Given the description of an element on the screen output the (x, y) to click on. 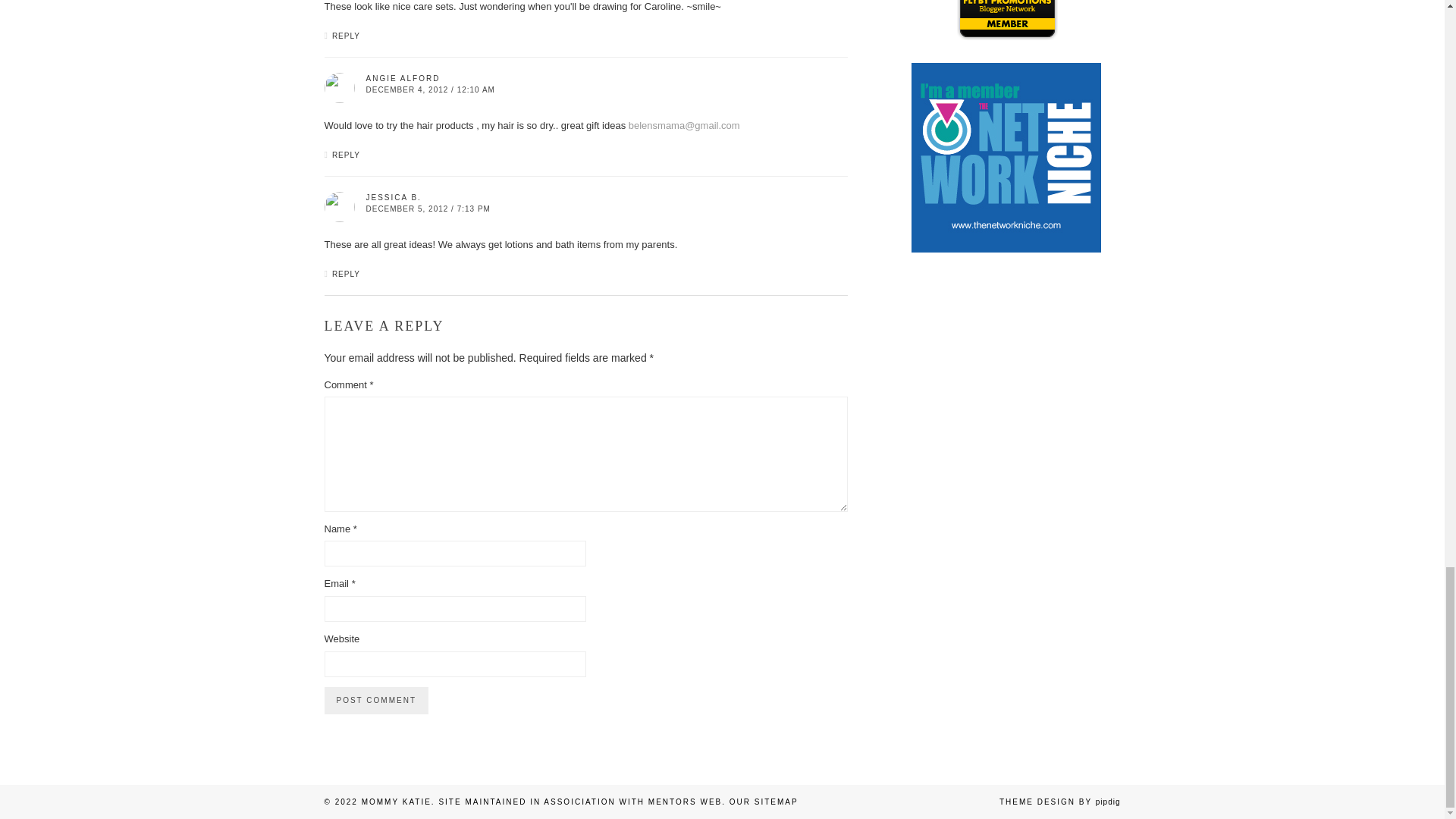
REPLY (345, 154)
I Have Massive Sway (1005, 569)
REPLY (345, 274)
Post Comment (376, 700)
Post Comment (376, 700)
The Network Niche (1005, 248)
REPLY (345, 35)
